Given the description of an element on the screen output the (x, y) to click on. 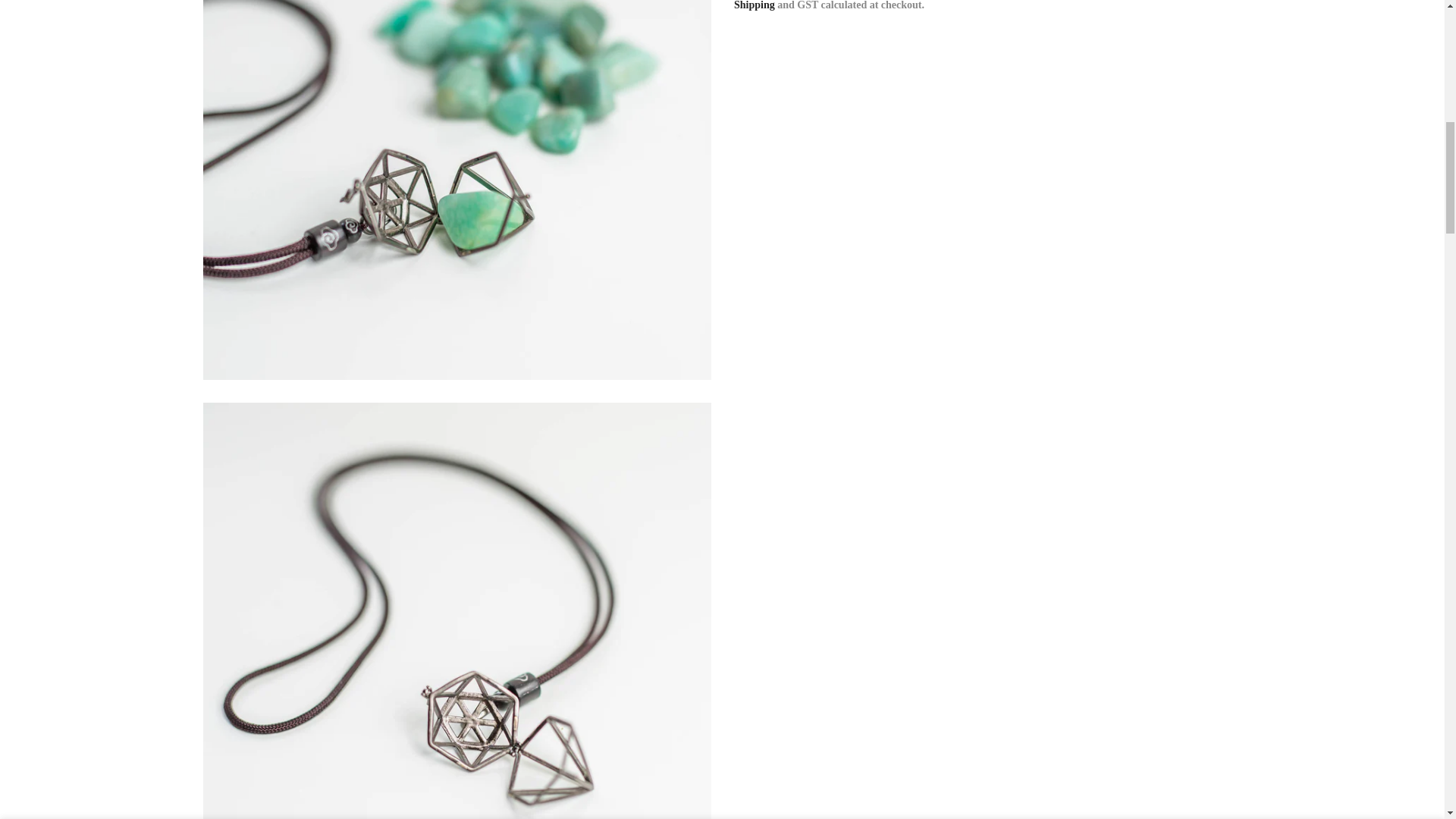
Shipping Policy (753, 4)
Shipping (753, 4)
1 (1077, 35)
